Given the description of an element on the screen output the (x, y) to click on. 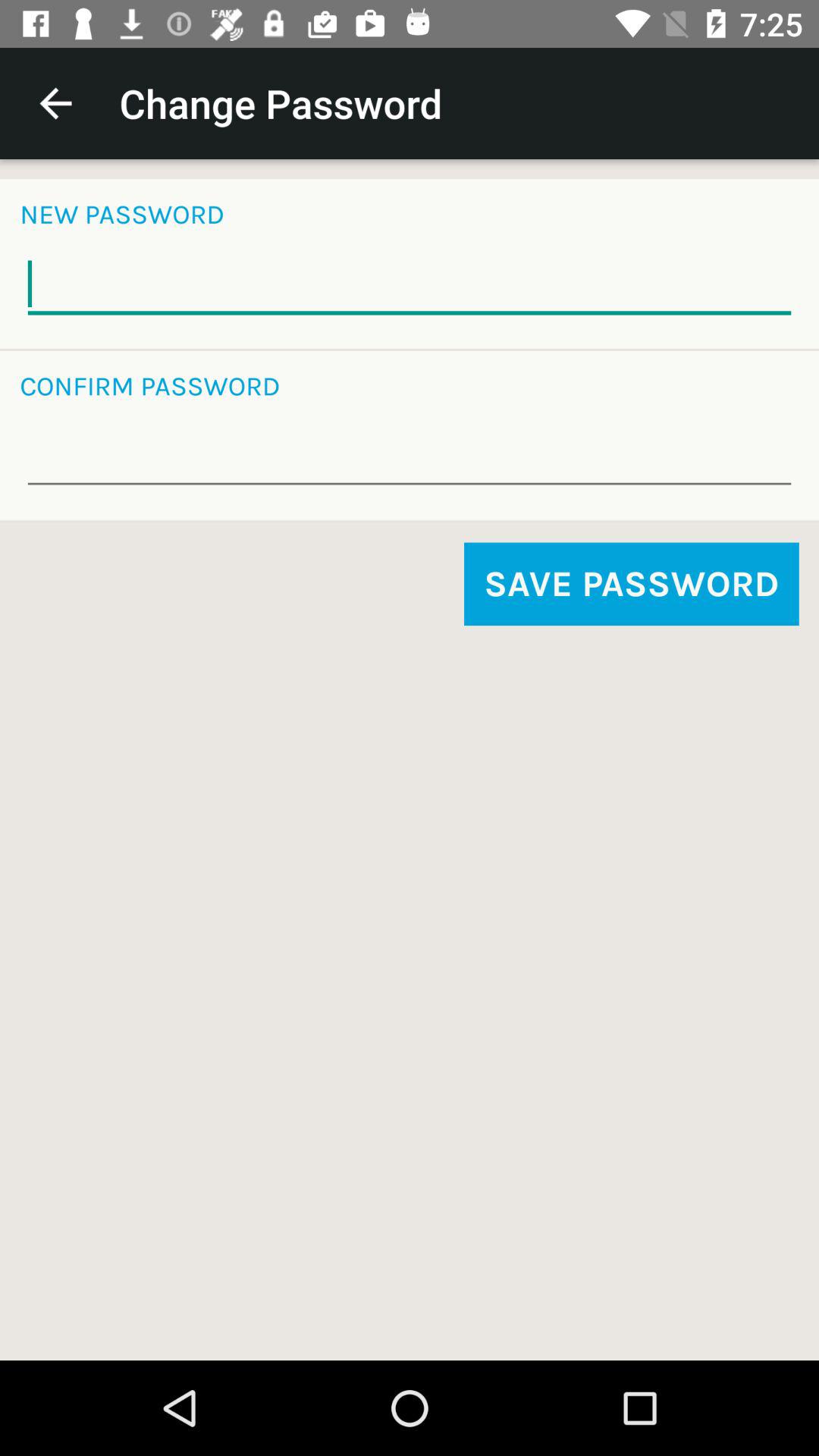
re enter password (409, 456)
